Given the description of an element on the screen output the (x, y) to click on. 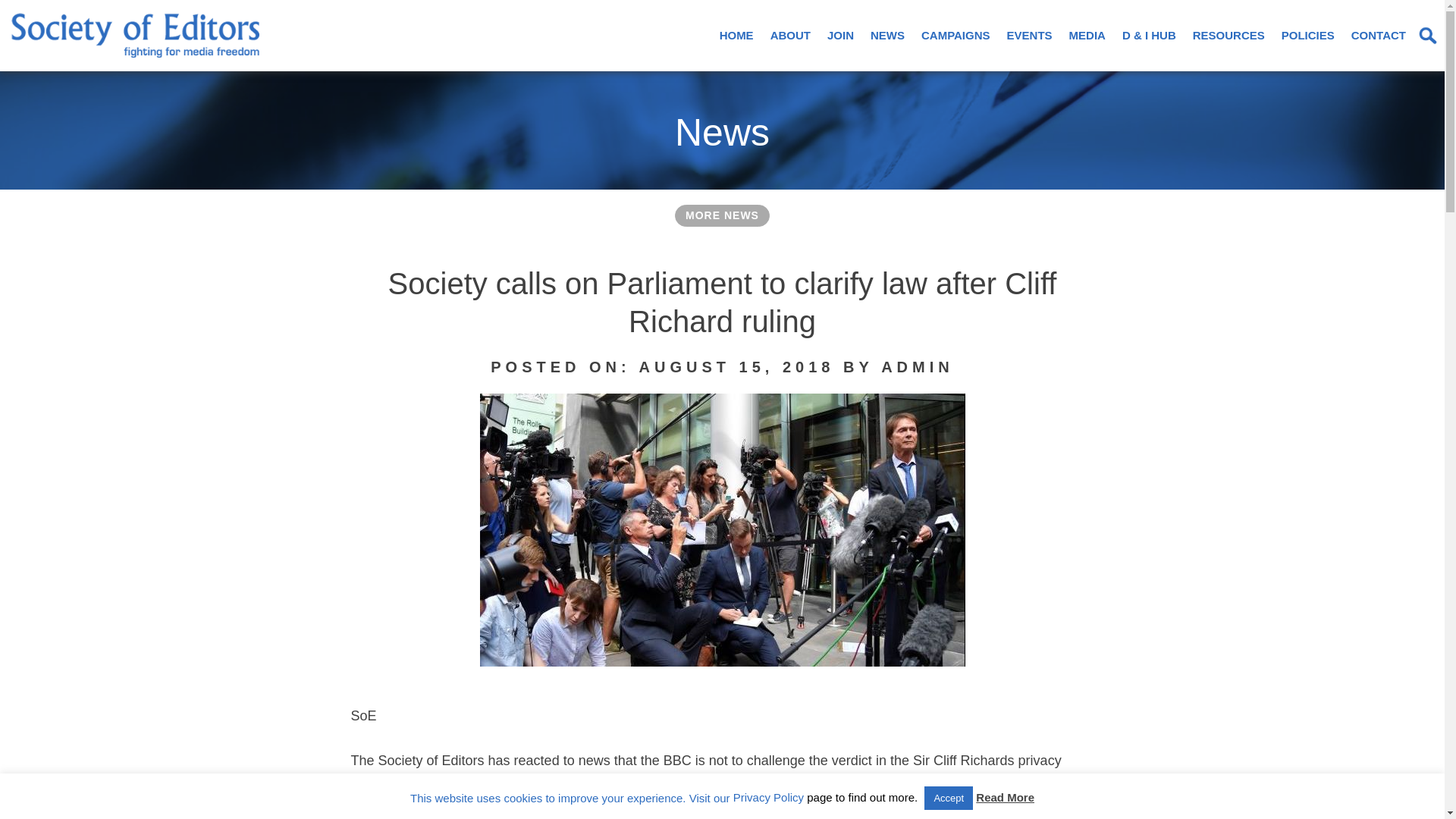
Society of Editors (64, 88)
Search for: (1428, 35)
CAMPAIGNS (955, 35)
Search (43, 15)
